Given the description of an element on the screen output the (x, y) to click on. 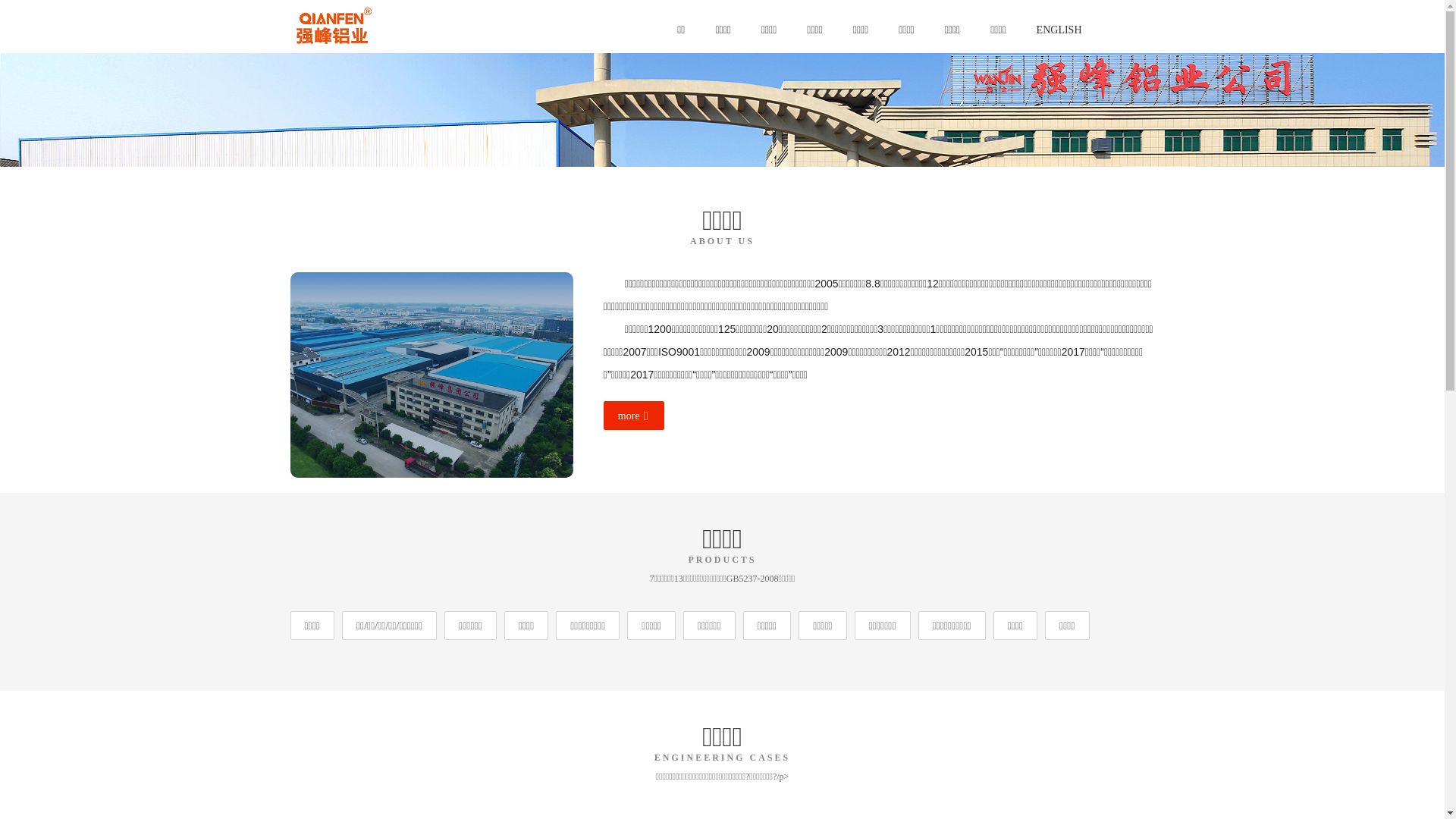
more Element type: text (633, 415)
ENGLISH Element type: text (1059, 30)
